Given the description of an element on the screen output the (x, y) to click on. 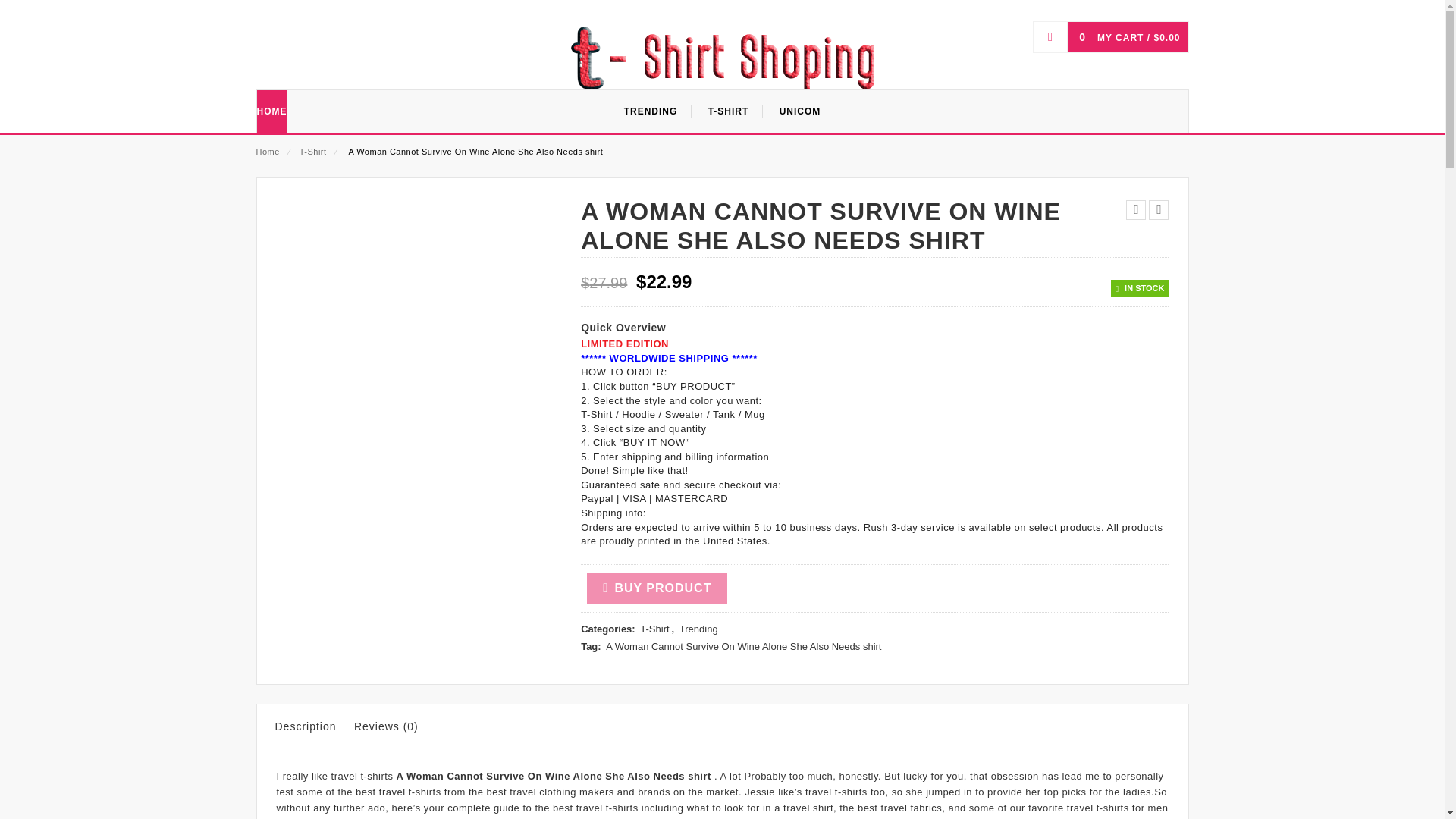
Home (267, 151)
T-Shirt (654, 629)
UNICOM (799, 111)
Trend T Shirt Store Online (721, 57)
T-Shirt (312, 151)
T-SHIRT (728, 111)
Description (305, 729)
Trending (698, 629)
BUY PRODUCT (656, 588)
A Woman Cannot Survive On Wine Alone She Also Needs shirt (743, 647)
